Given the description of an element on the screen output the (x, y) to click on. 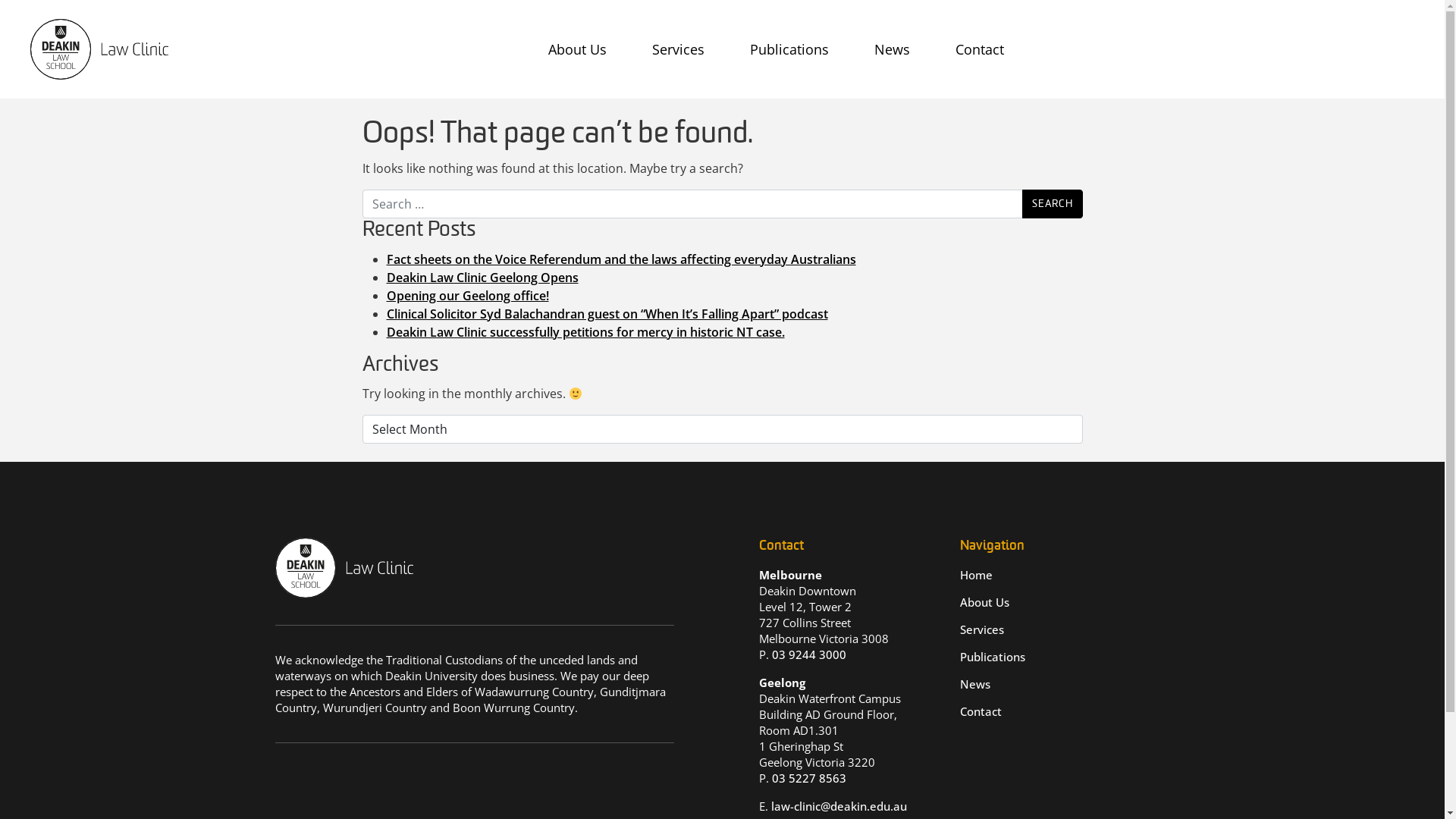
Contact Element type: text (980, 710)
About Us Element type: text (984, 601)
Publications Element type: text (789, 49)
News Element type: text (975, 683)
Deakin Law Clinic Geelong Opens Element type: text (482, 277)
law-clinic@deakin.edu.au Element type: text (838, 805)
Services Element type: text (982, 629)
Contact Element type: text (979, 49)
Home Element type: text (976, 574)
About Us Element type: text (577, 49)
Opening our Geelong office! Element type: text (467, 295)
Search Element type: text (1052, 203)
News Element type: text (891, 49)
03 5227 8563 Element type: text (808, 777)
03 9244 3000 Element type: text (808, 654)
Publications Element type: text (992, 656)
Services Element type: text (678, 49)
